Given the description of an element on the screen output the (x, y) to click on. 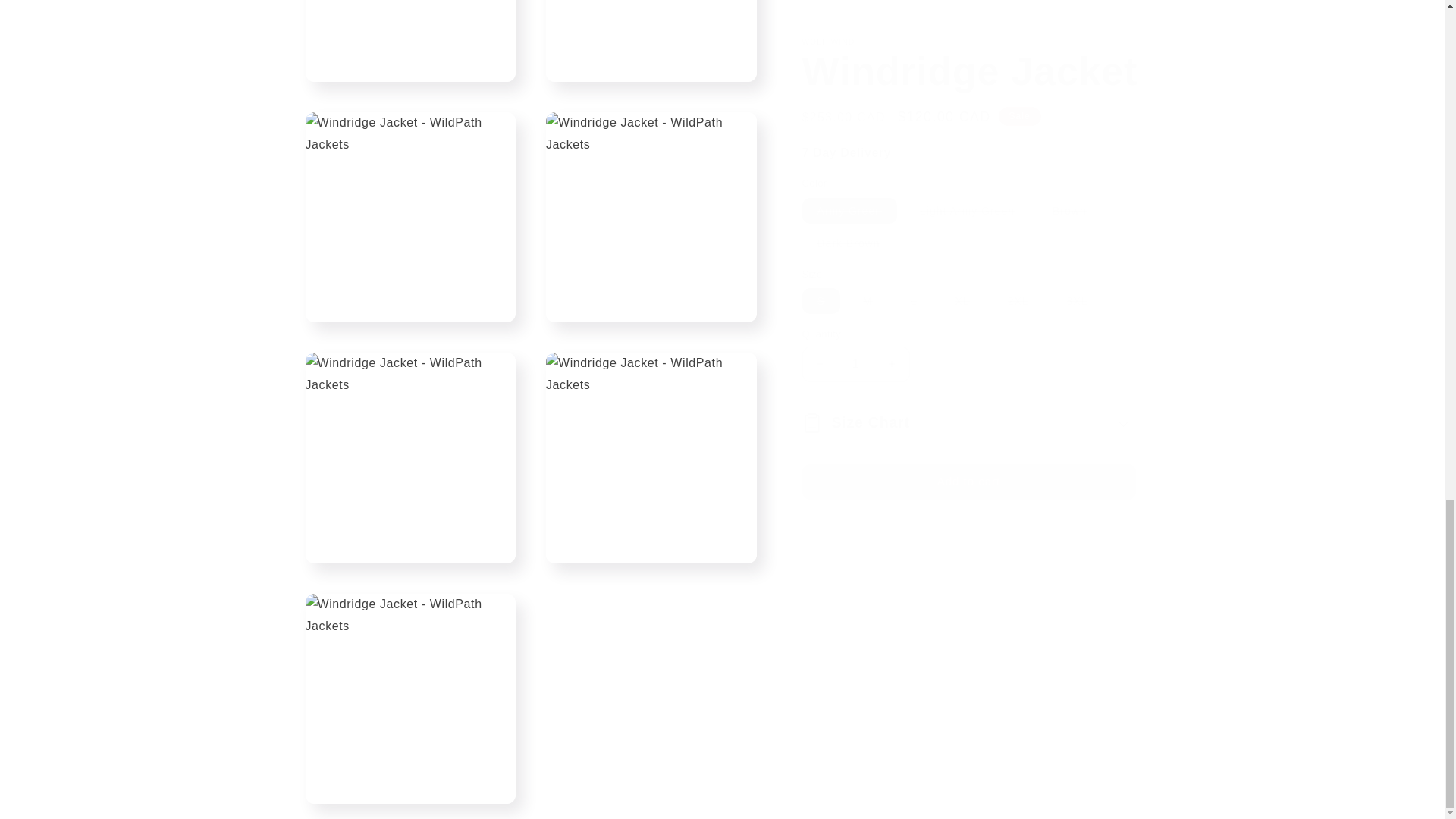
Open media 6 in modal (409, 33)
Open media 8 in modal (409, 202)
Open media 7 in modal (651, 33)
Open media 12 in modal (409, 683)
Open media 11 in modal (651, 442)
Open media 9 in modal (651, 202)
Open media 10 in modal (409, 442)
